Given the description of an element on the screen output the (x, y) to click on. 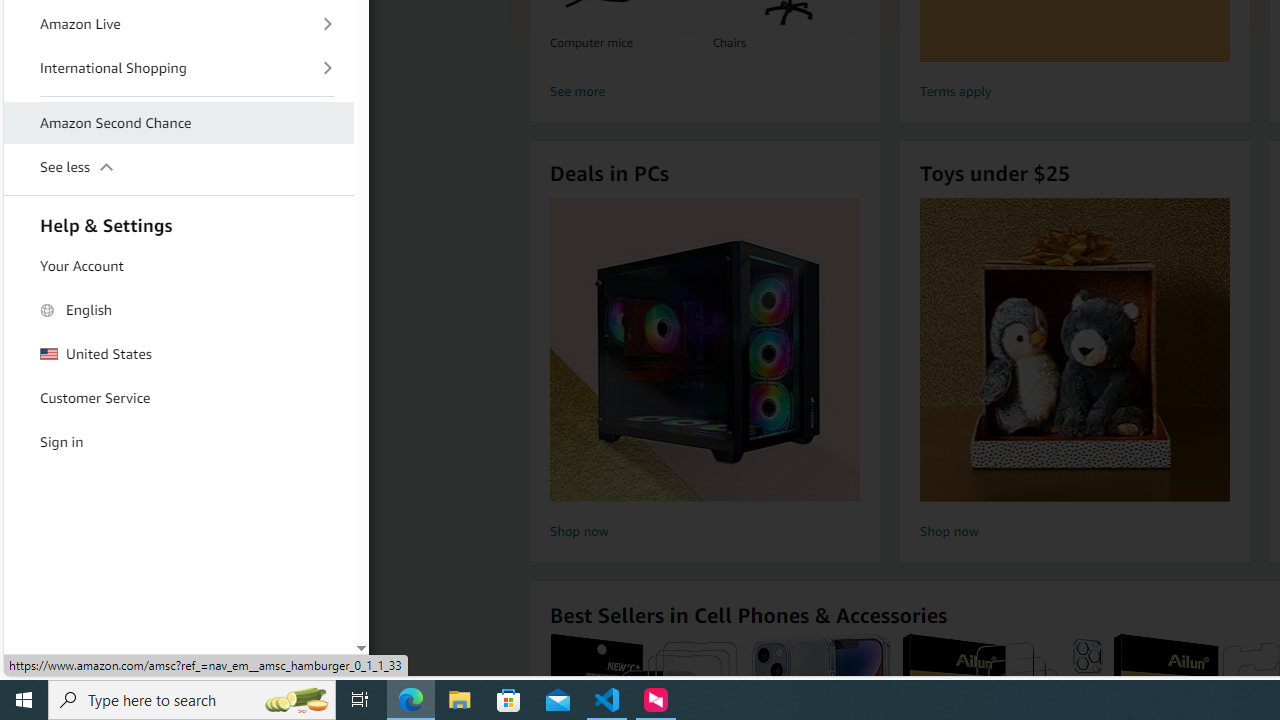
Customer Service (178, 399)
United States (178, 353)
Your Account (178, 265)
International Shopping (178, 68)
See less (178, 168)
United States (178, 354)
Amazon Second Chance (178, 124)
Amazon Live (178, 24)
English (178, 310)
Amazon Second Chance (178, 123)
International Shopping (178, 67)
Customer Service (178, 398)
See less (178, 166)
English (178, 309)
